Given the description of an element on the screen output the (x, y) to click on. 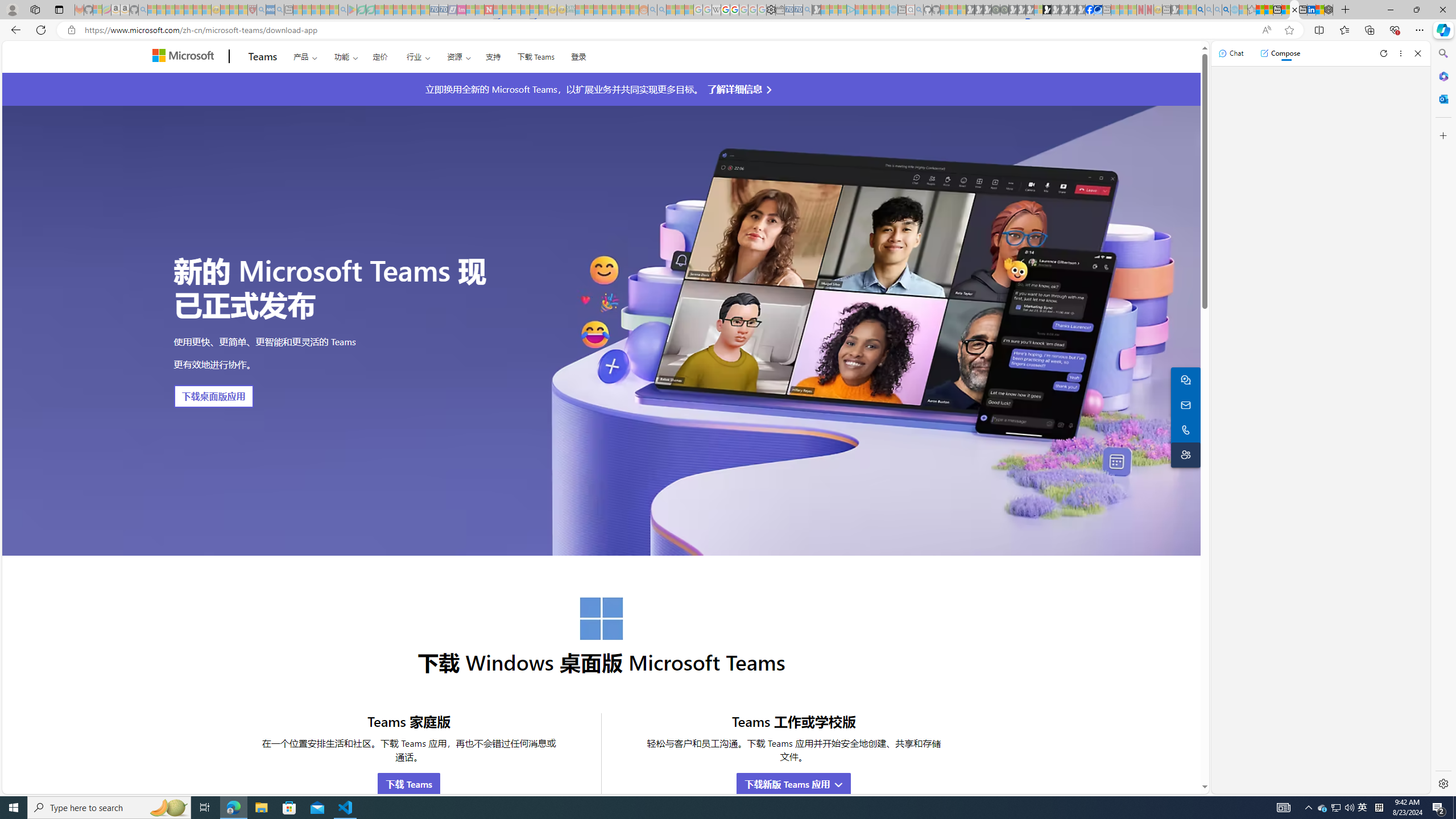
Nordace | Facebook (1089, 9)
